Given the description of an element on the screen output the (x, y) to click on. 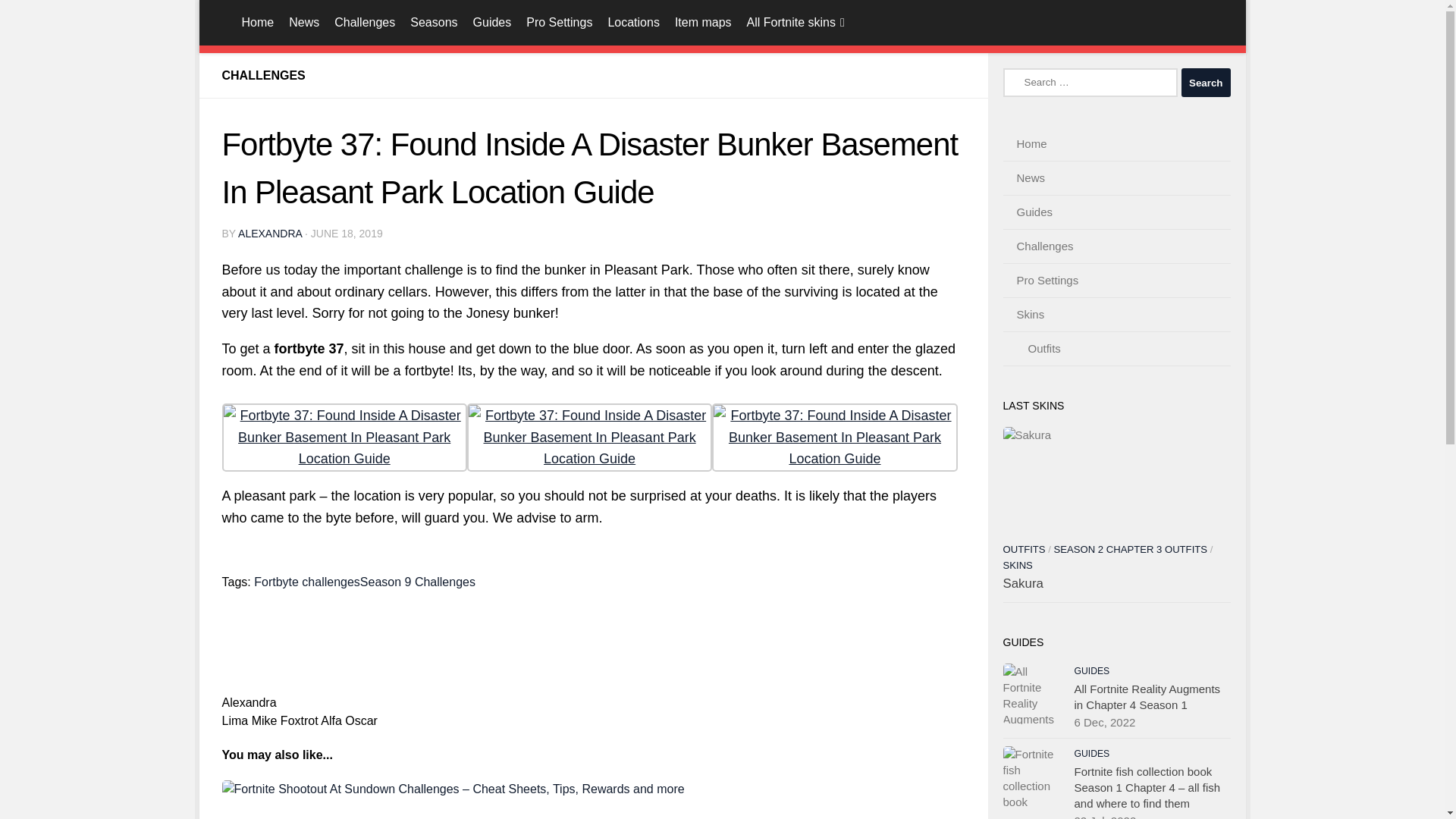
Skip to content (263, 20)
Locations (632, 22)
CHALLENGES (262, 74)
Fortbyte challenges (306, 581)
Pro Settings (558, 22)
Posts by Alexandra (269, 233)
Seasons (433, 22)
Search (1205, 82)
ALEXANDRA (269, 233)
News (303, 22)
Season 9 Challenges (417, 581)
Challenges (364, 22)
All Fortnite skins (795, 22)
